Given the description of an element on the screen output the (x, y) to click on. 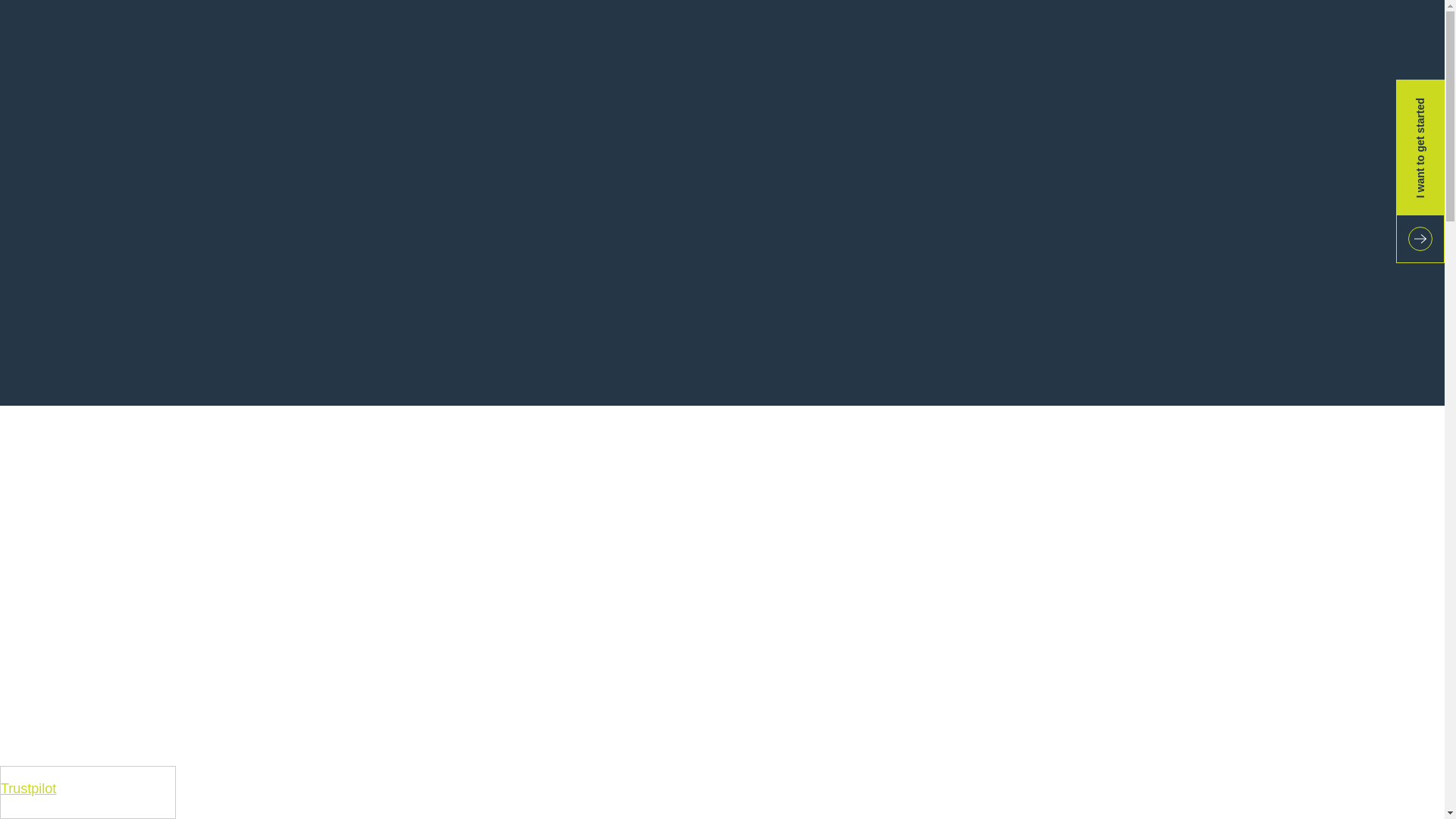
Trustpilot Element type: text (28, 788)
